Given the description of an element on the screen output the (x, y) to click on. 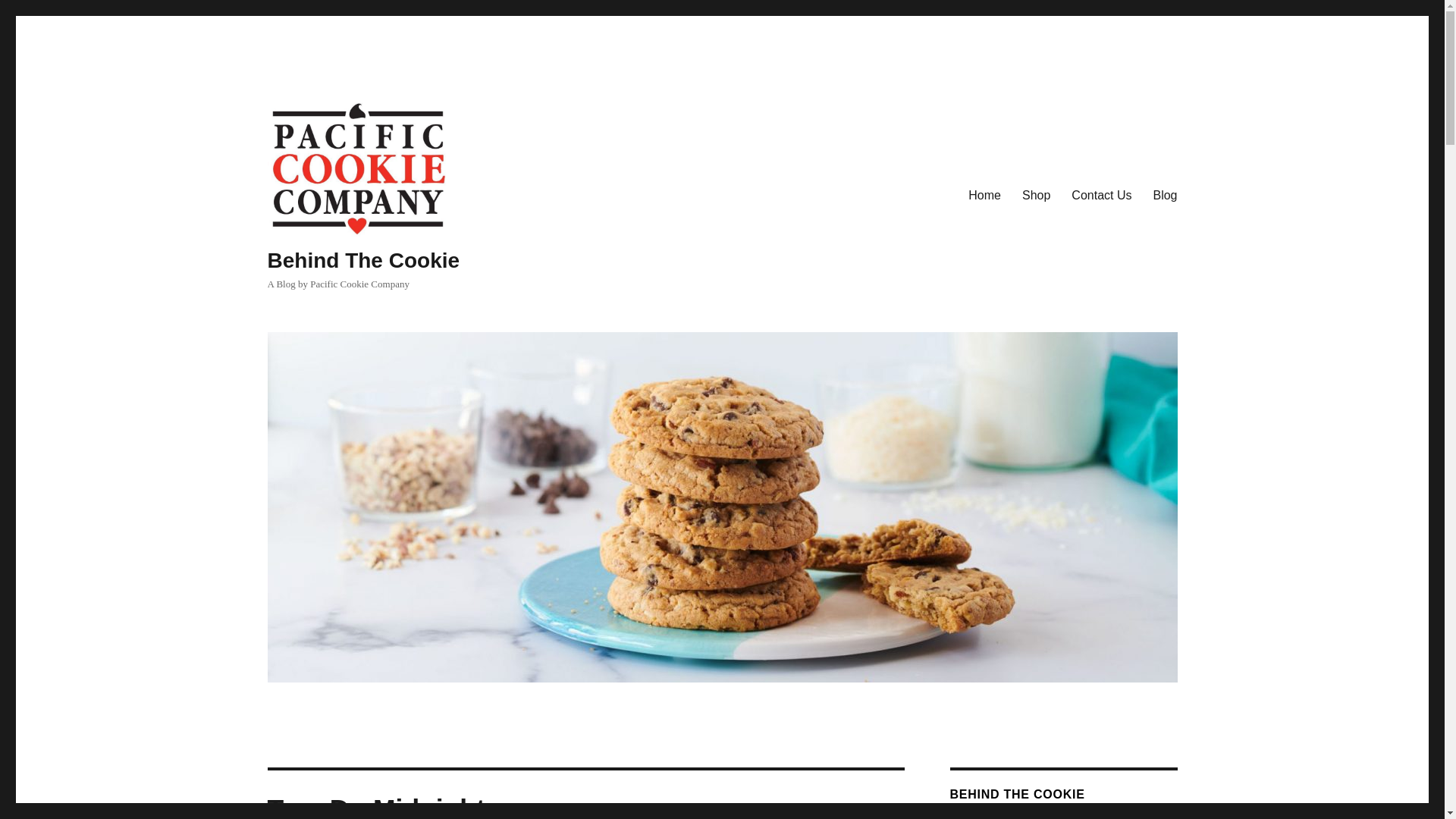
Contact Us (1101, 194)
Blog (1164, 194)
Behind The Cookie (363, 259)
Shop (1036, 194)
Shop (1036, 194)
Home (984, 194)
